Given the description of an element on the screen output the (x, y) to click on. 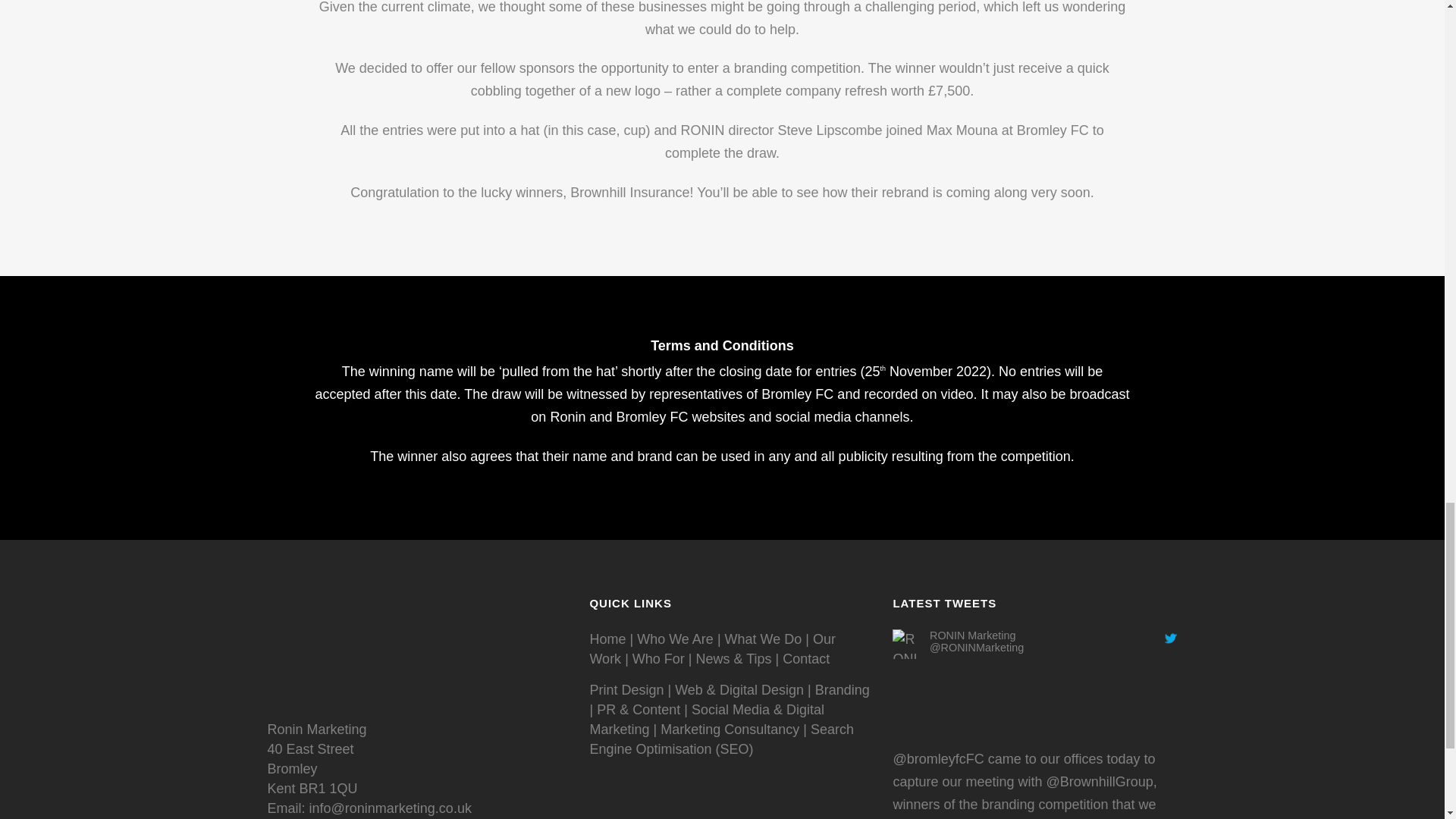
Who We Are (675, 639)
Brownhill Insurance (1099, 781)
RONIN Marketing (907, 737)
RONIN Marketing (976, 647)
RONIN Marketing (973, 635)
Home (607, 639)
